Given the description of an element on the screen output the (x, y) to click on. 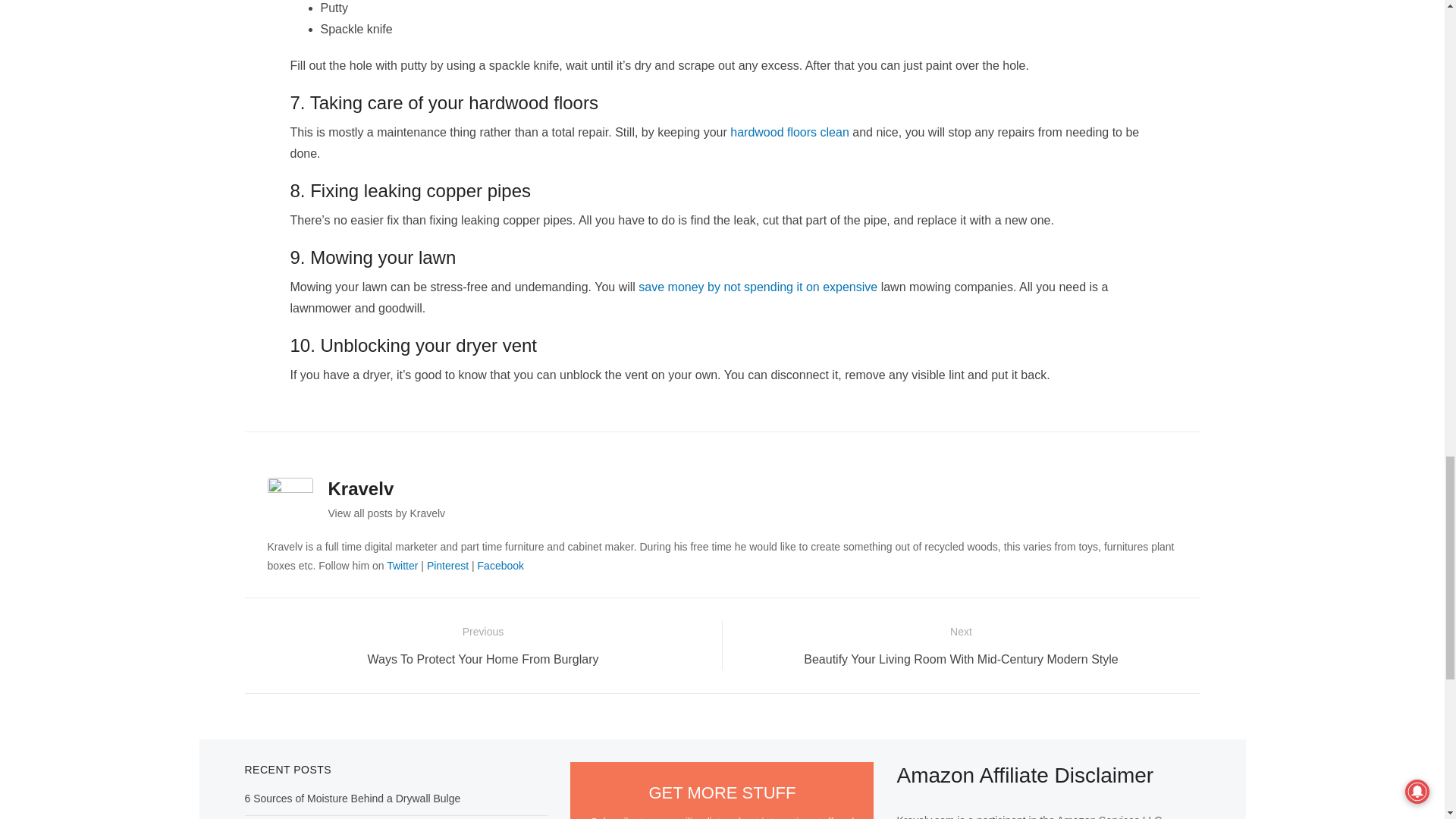
hardwood floors clean (789, 132)
